Given the description of an element on the screen output the (x, y) to click on. 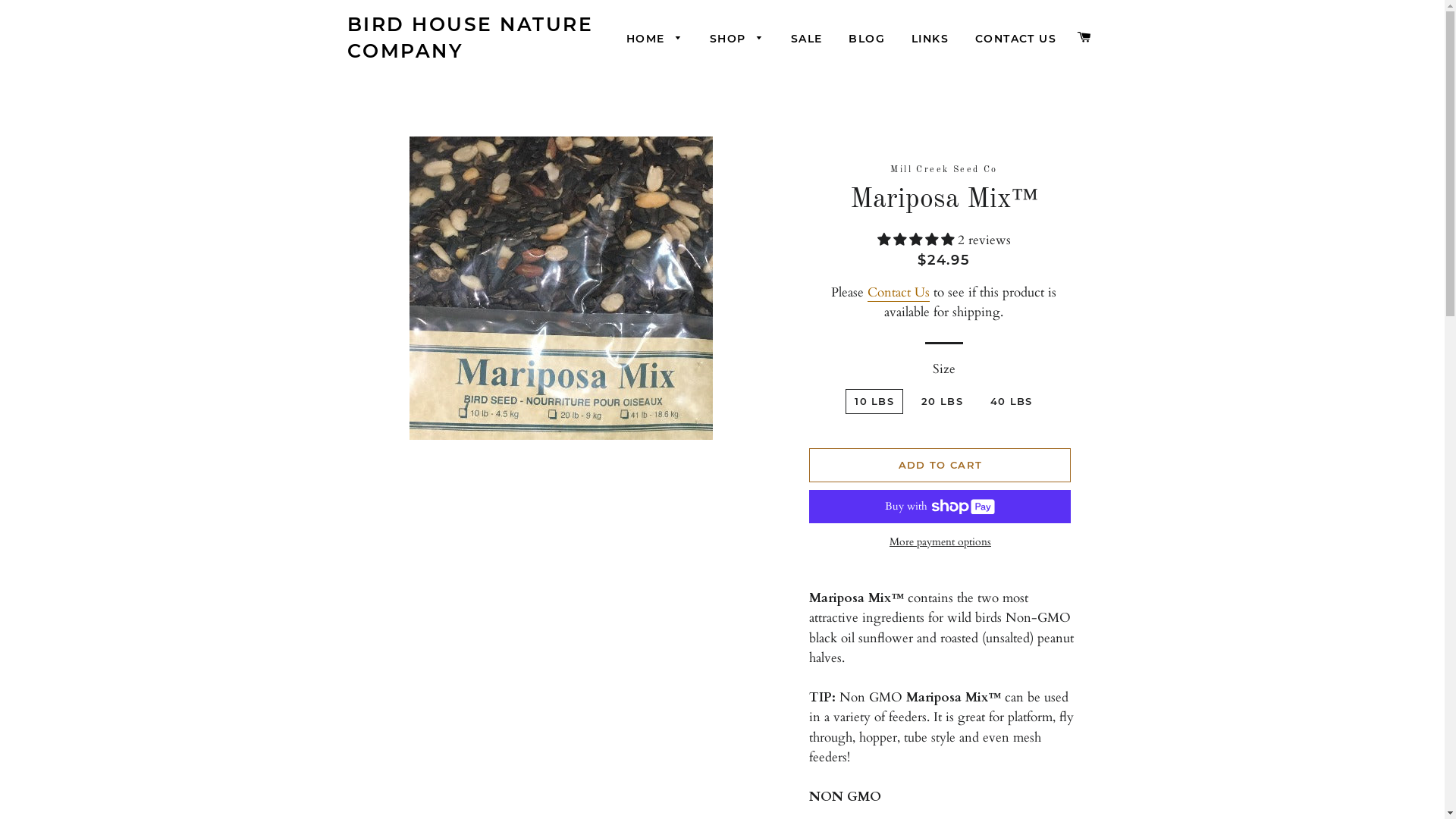
HOME Element type: text (654, 39)
BIRD HOUSE NATURE COMPANY Element type: text (472, 37)
CONTACT US Element type: text (1015, 39)
More payment options Element type: text (939, 541)
Contact Us Element type: text (898, 292)
LINKS Element type: text (930, 39)
CART Element type: text (1084, 37)
ADD TO CART Element type: text (939, 464)
SHOP Element type: text (736, 39)
SALE Element type: text (806, 39)
BLOG Element type: text (866, 39)
